Given the description of an element on the screen output the (x, y) to click on. 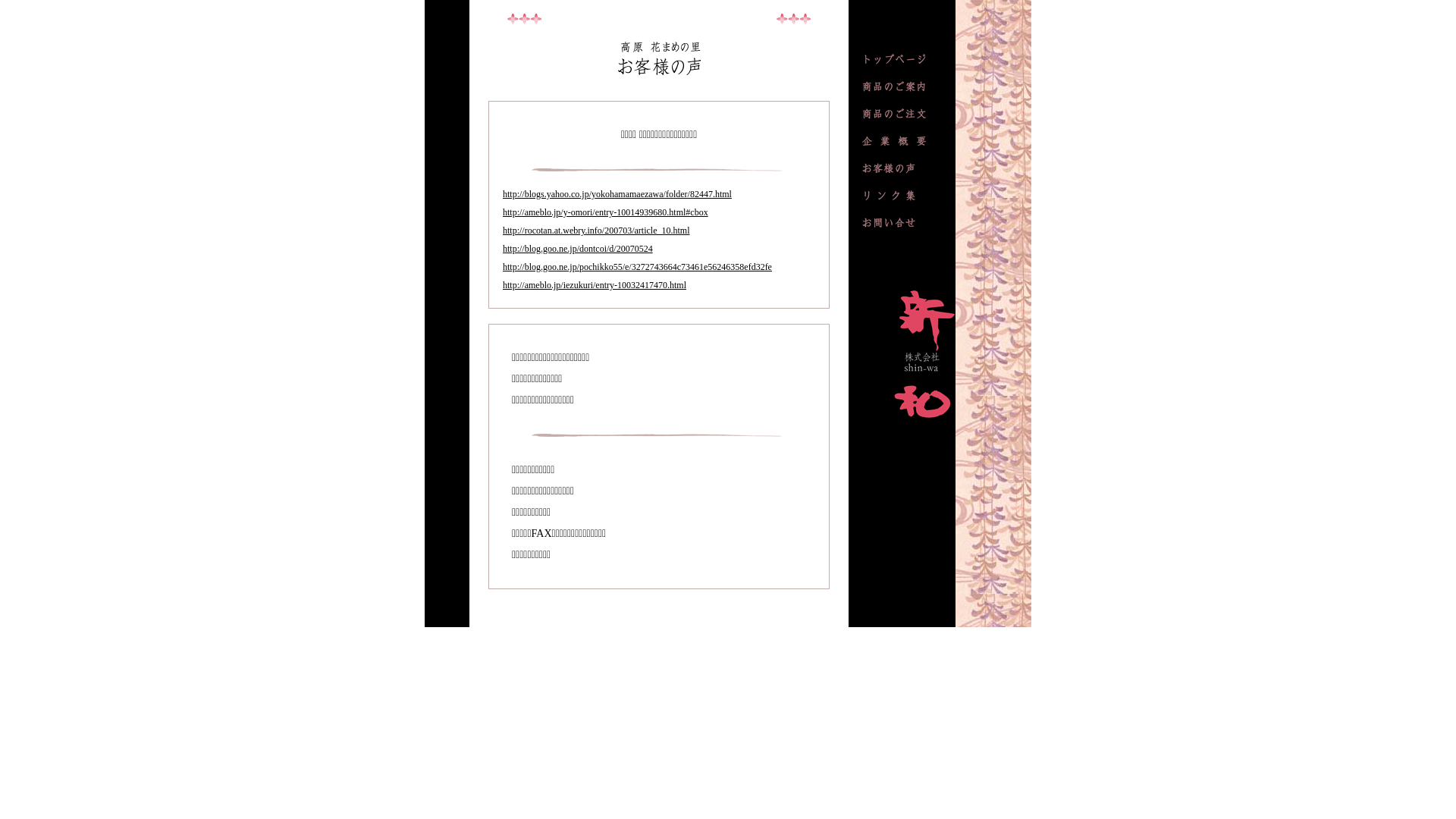
http://ameblo.jp/iezukuri/entry-10032417470.html Element type: text (594, 284)
http://blog.goo.ne.jp/dontcoi/d/20070524 Element type: text (577, 248)
http://blogs.yahoo.co.jp/yokohamamaezawa/folder/82447.html Element type: text (616, 193)
http://rocotan.at.webry.info/200703/article_10.html Element type: text (596, 230)
http://ameblo.jp/y-omori/entry-10014939680.html#cbox Element type: text (605, 212)
